Given the description of an element on the screen output the (x, y) to click on. 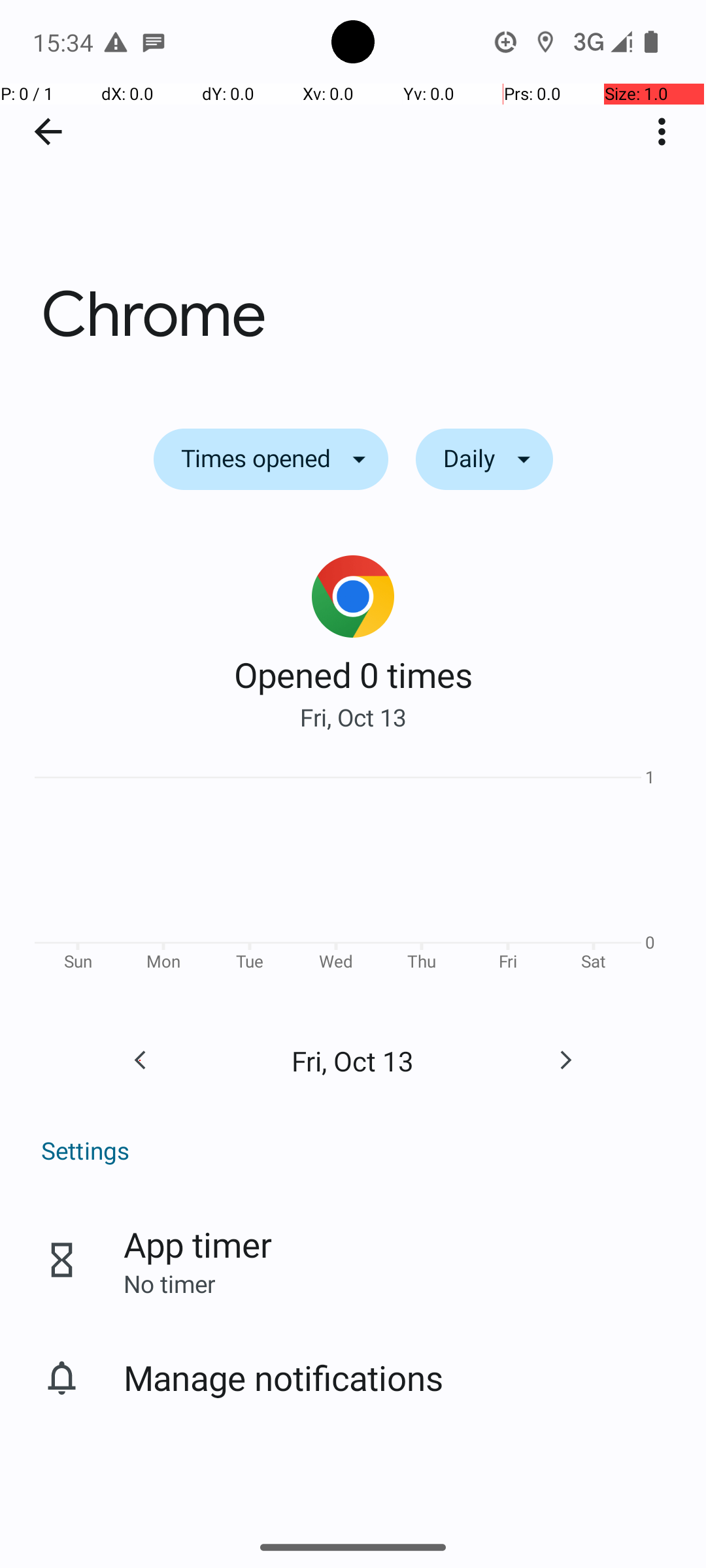
Times opened Element type: android.widget.Spinner (270, 459)
Daily Element type: android.widget.Spinner (484, 459)
Opened 0 times Element type: android.widget.TextView (353, 674)
Fri, Oct 13 Element type: android.widget.TextView (352, 717)
Go to the previous day Element type: android.widget.Button (139, 1060)
Go to the next day Element type: android.widget.Button (565, 1060)
Bar Chart. Showing App usage data with 7 data points. Element type: android.view.ViewGroup (353, 873)
App timer Element type: android.widget.TextView (197, 1244)
No timer Element type: android.widget.TextView (169, 1283)
Manage notifications Element type: android.widget.TextView (283, 1377)
